Given the description of an element on the screen output the (x, y) to click on. 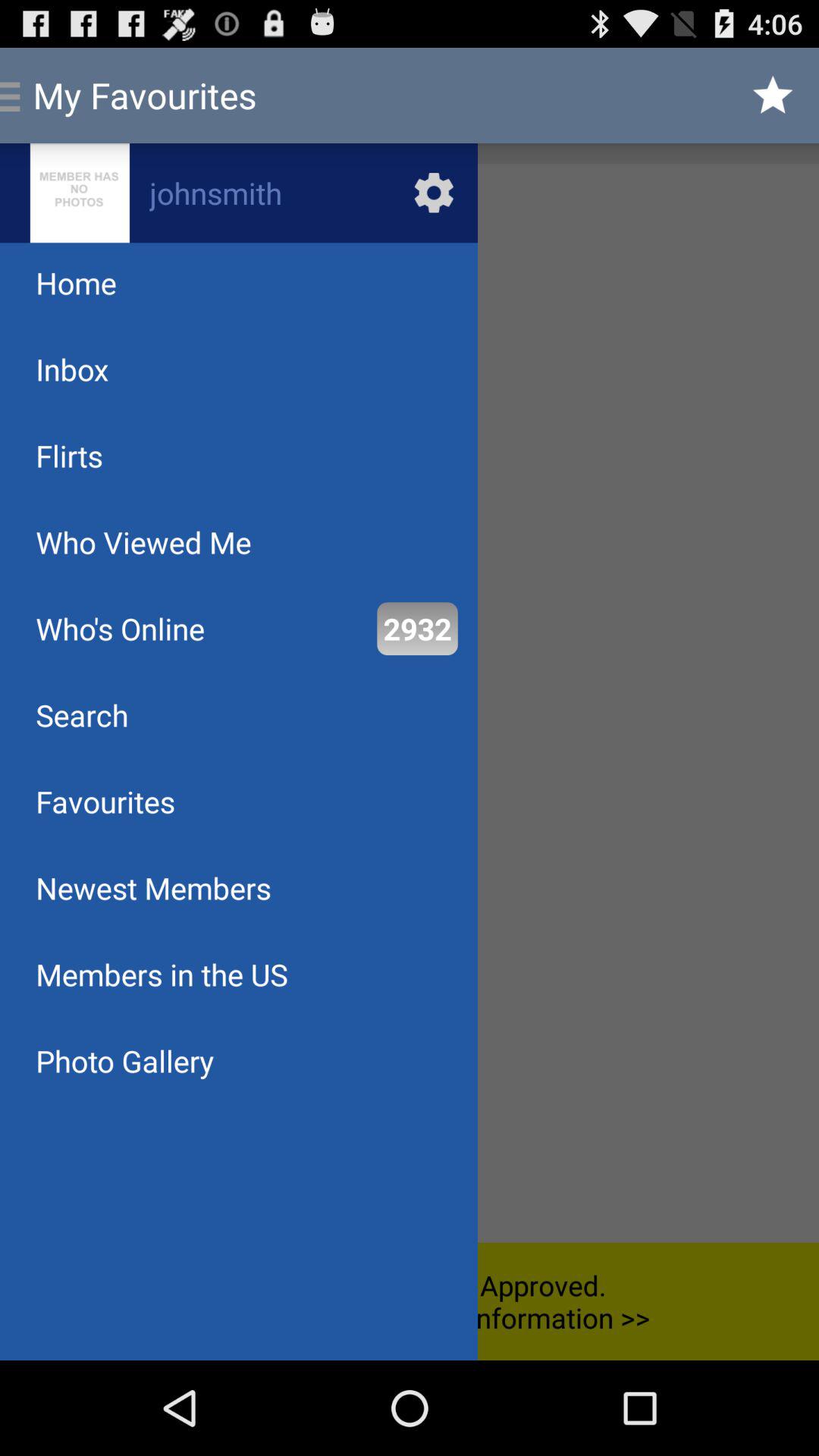
show or hide menu (409, 702)
